Given the description of an element on the screen output the (x, y) to click on. 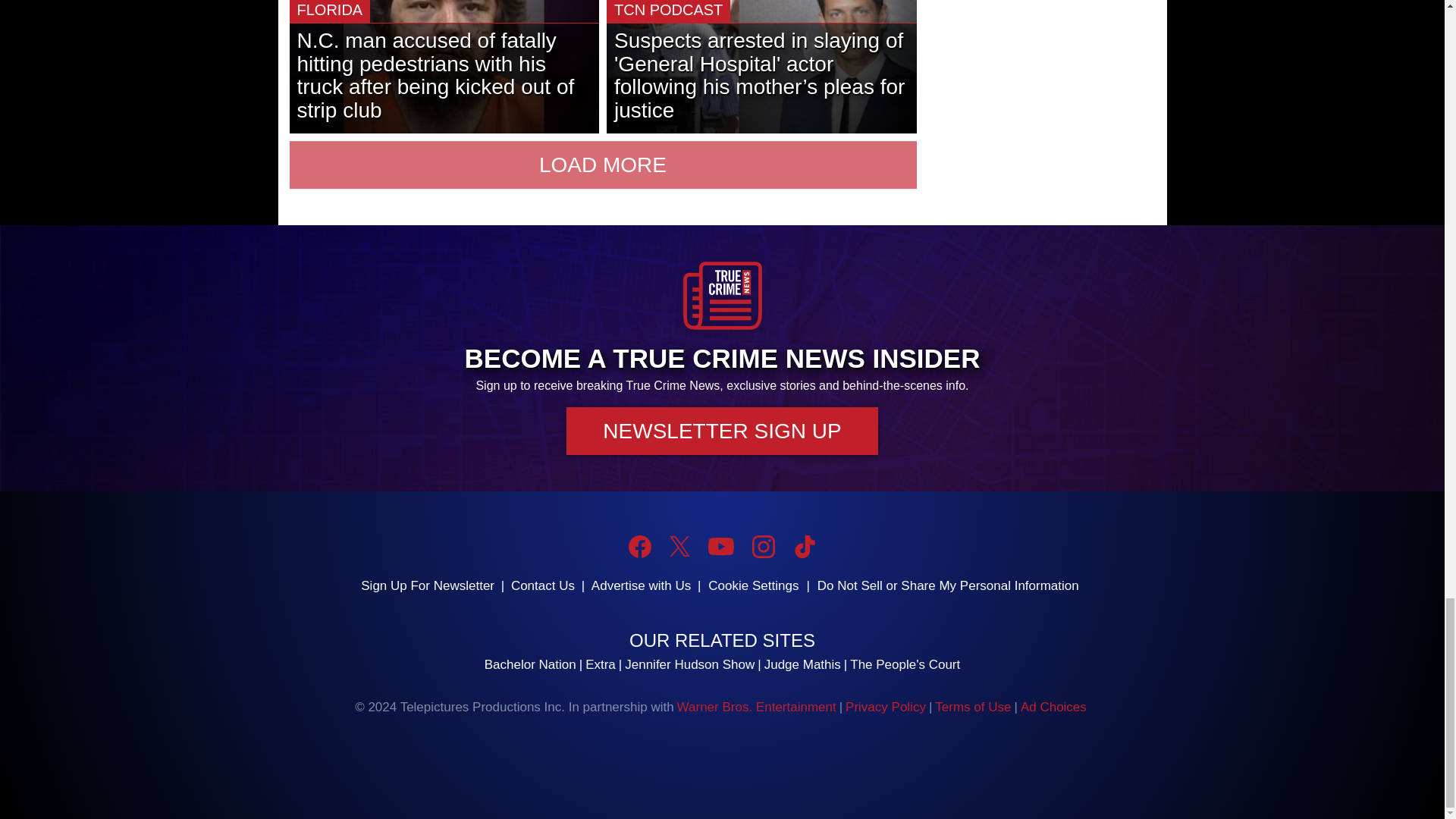
Instagram (763, 546)
YouTube (720, 546)
TikTok (804, 546)
Facebook (639, 546)
Twitter (679, 546)
